Given the description of an element on the screen output the (x, y) to click on. 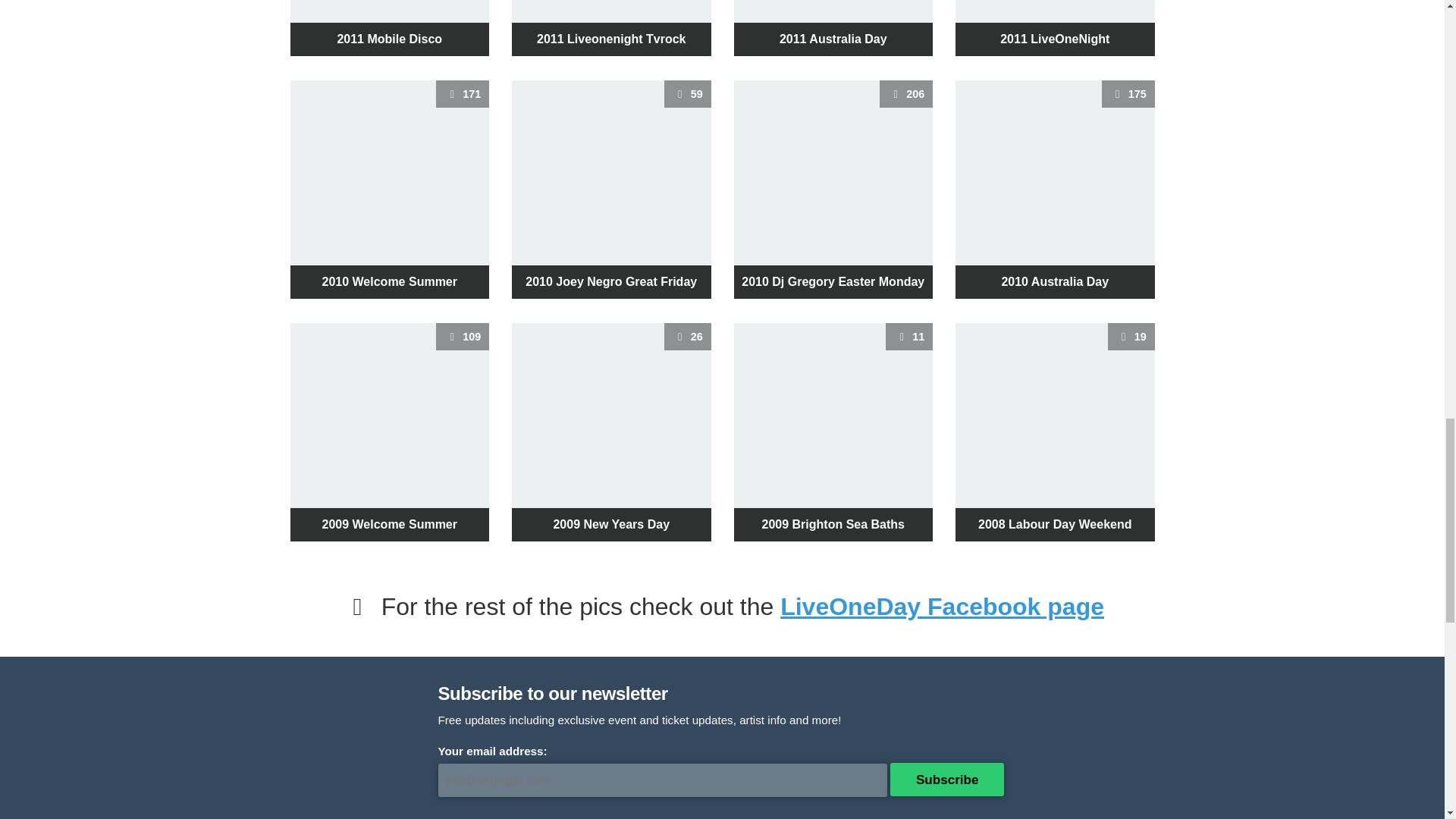
LiveOneDay Facebook page (1054, 28)
Subscribe (941, 605)
